Given the description of an element on the screen output the (x, y) to click on. 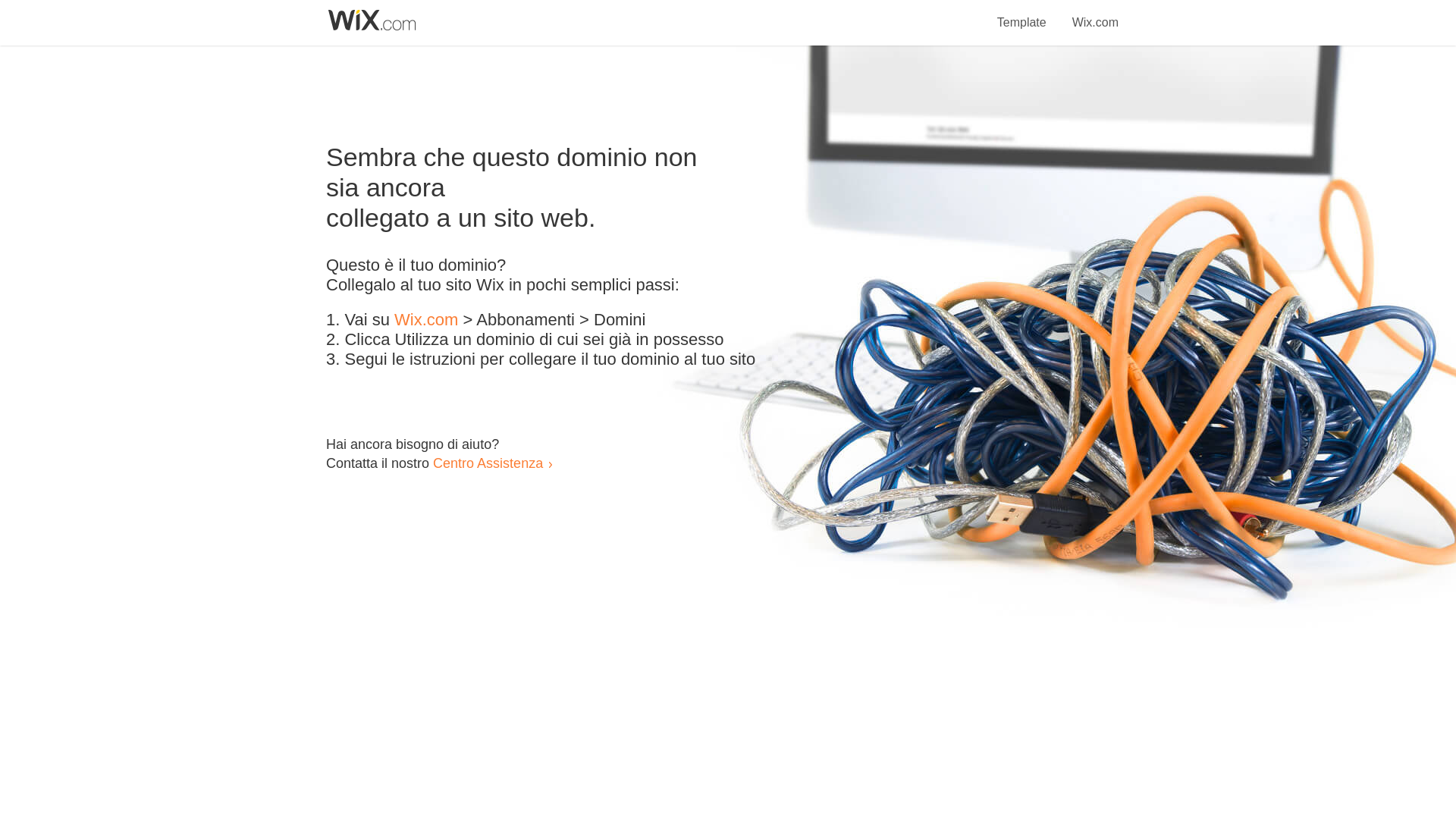
Template (1021, 14)
Wix.com (1095, 14)
Wix.com (426, 319)
Centro Assistenza (487, 462)
